Given the description of an element on the screen output the (x, y) to click on. 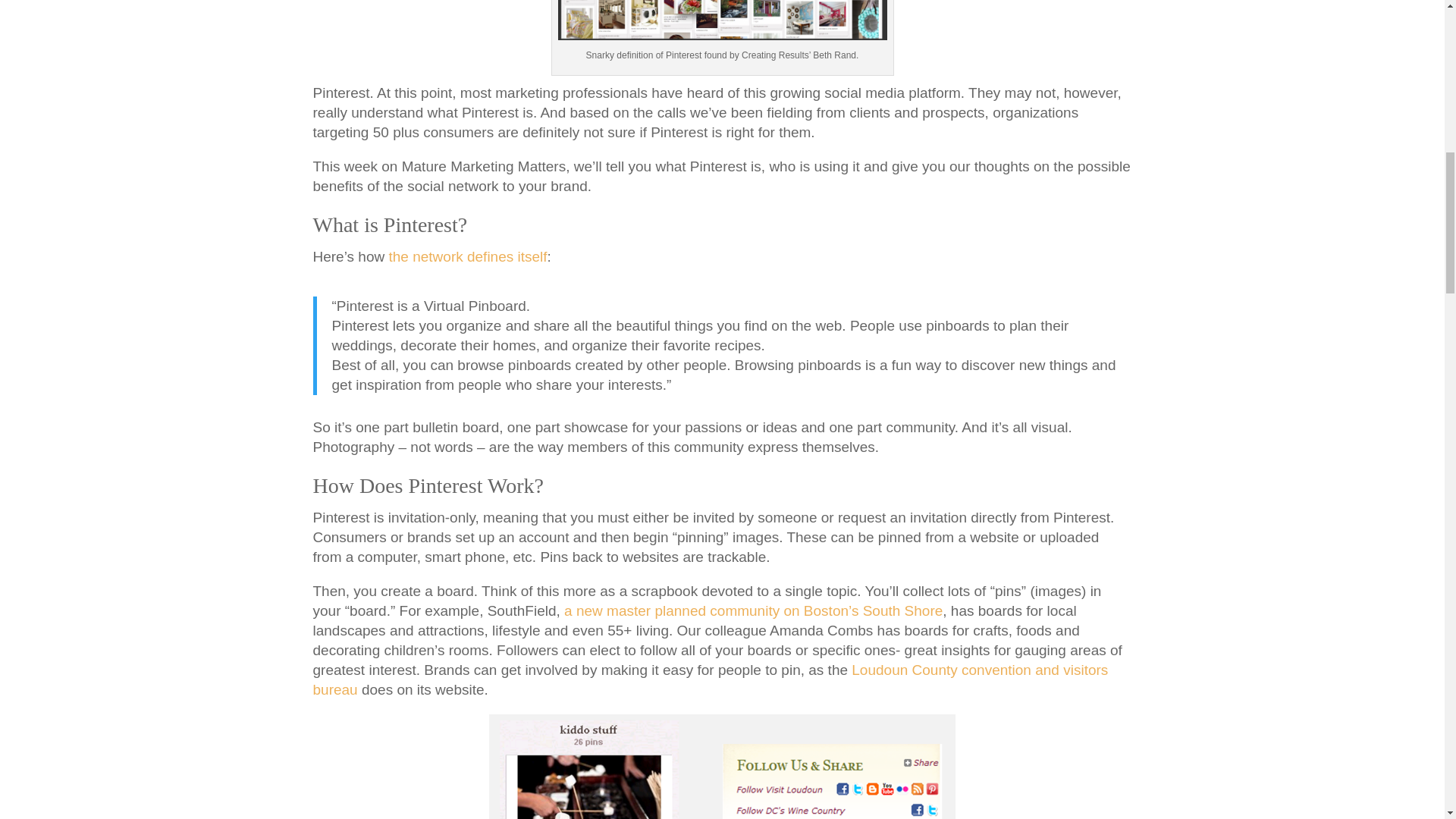
Loudoun County convention and visitors bureau (710, 679)
Pinterest-Examples (722, 766)
the network defines itself (467, 256)
Pinterest-Definition-Snarky (721, 19)
